Given the description of an element on the screen output the (x, y) to click on. 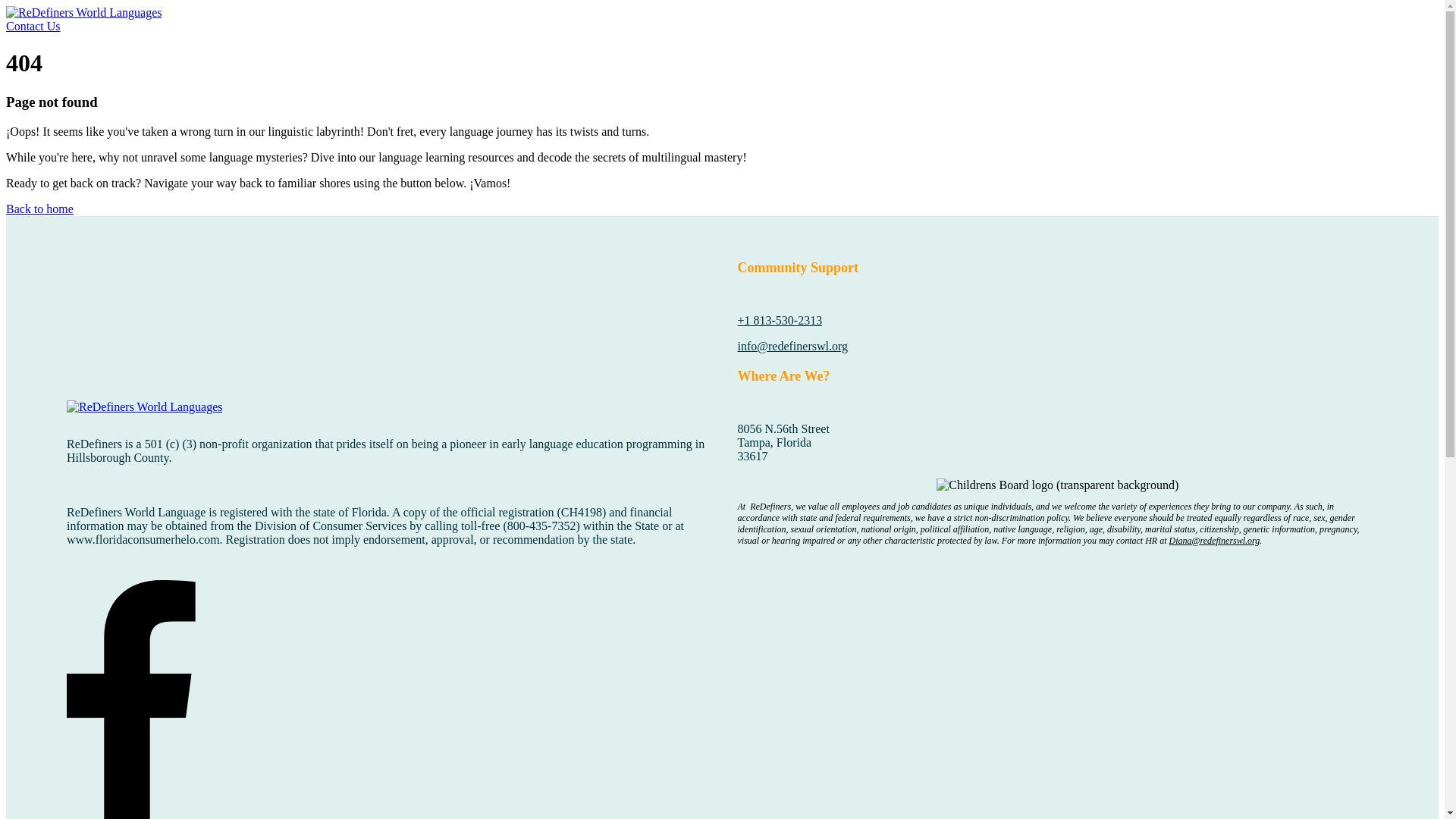
ReDefiners World Languages (83, 12)
Back to home (39, 208)
ReDefiners World Languages (144, 407)
Contact Us (33, 25)
